Given the description of an element on the screen output the (x, y) to click on. 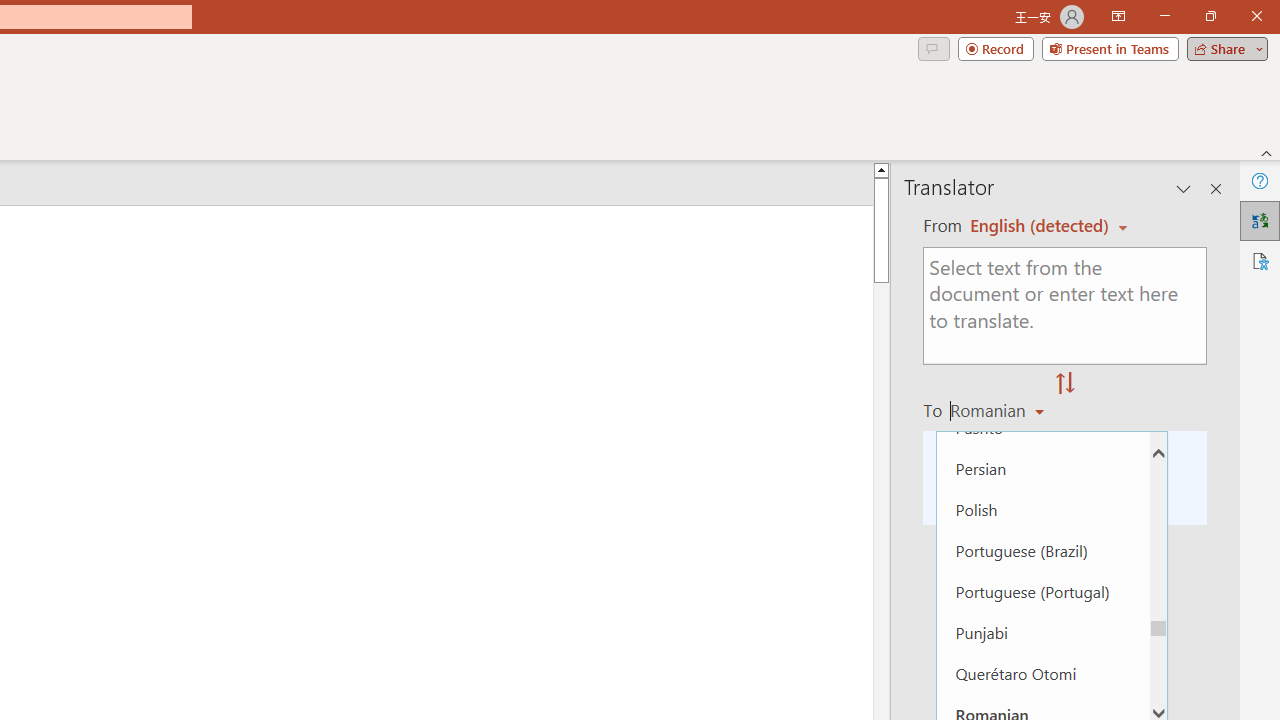
Polish (1042, 508)
Portuguese (Portugal) (1042, 591)
Odia (1042, 385)
Punjabi (1042, 632)
Portuguese (Brazil) (1042, 549)
Nepali (1042, 263)
Nyanja (1042, 344)
